Given the description of an element on the screen output the (x, y) to click on. 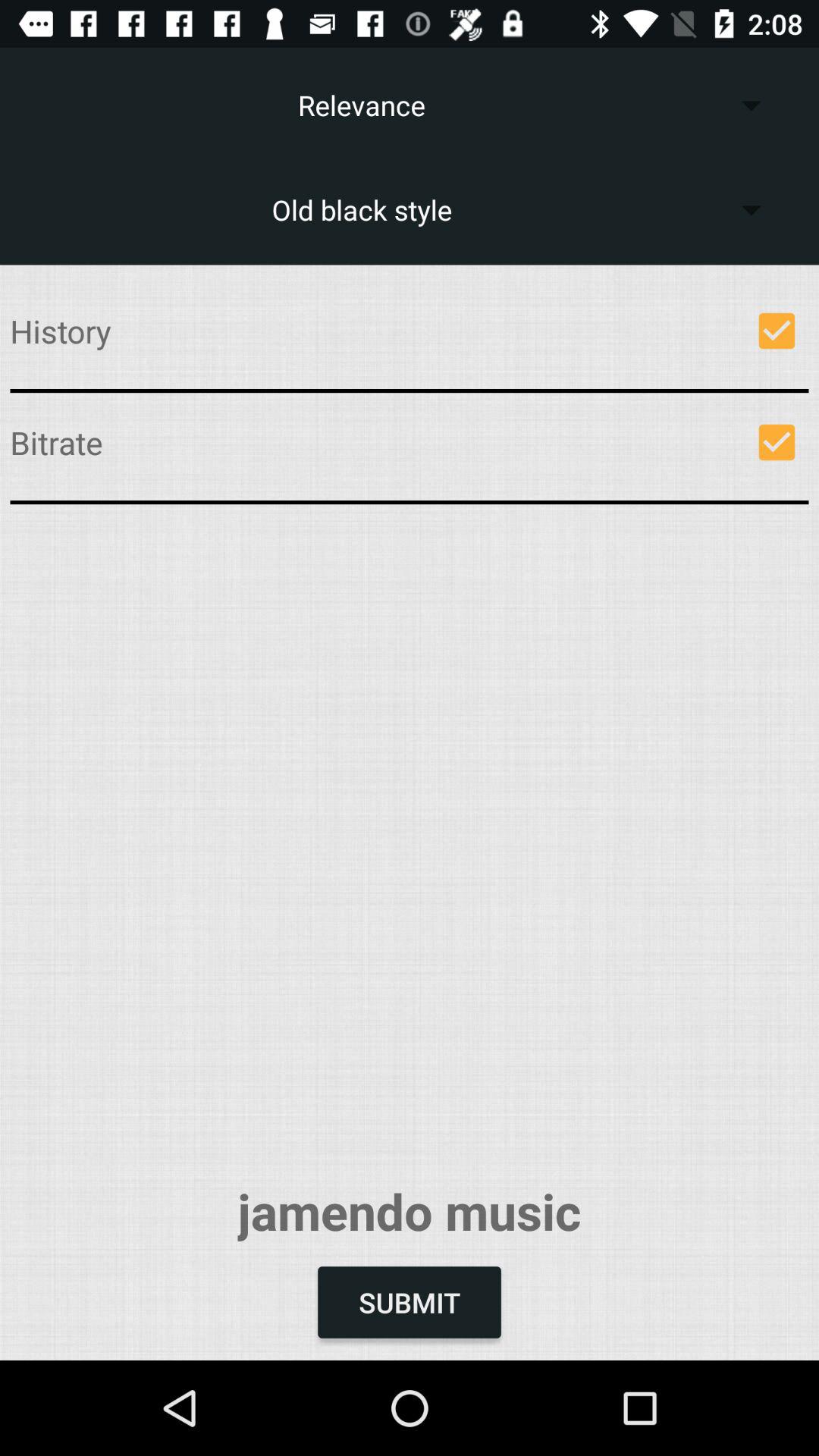
open icon next to history (776, 330)
